Given the description of an element on the screen output the (x, y) to click on. 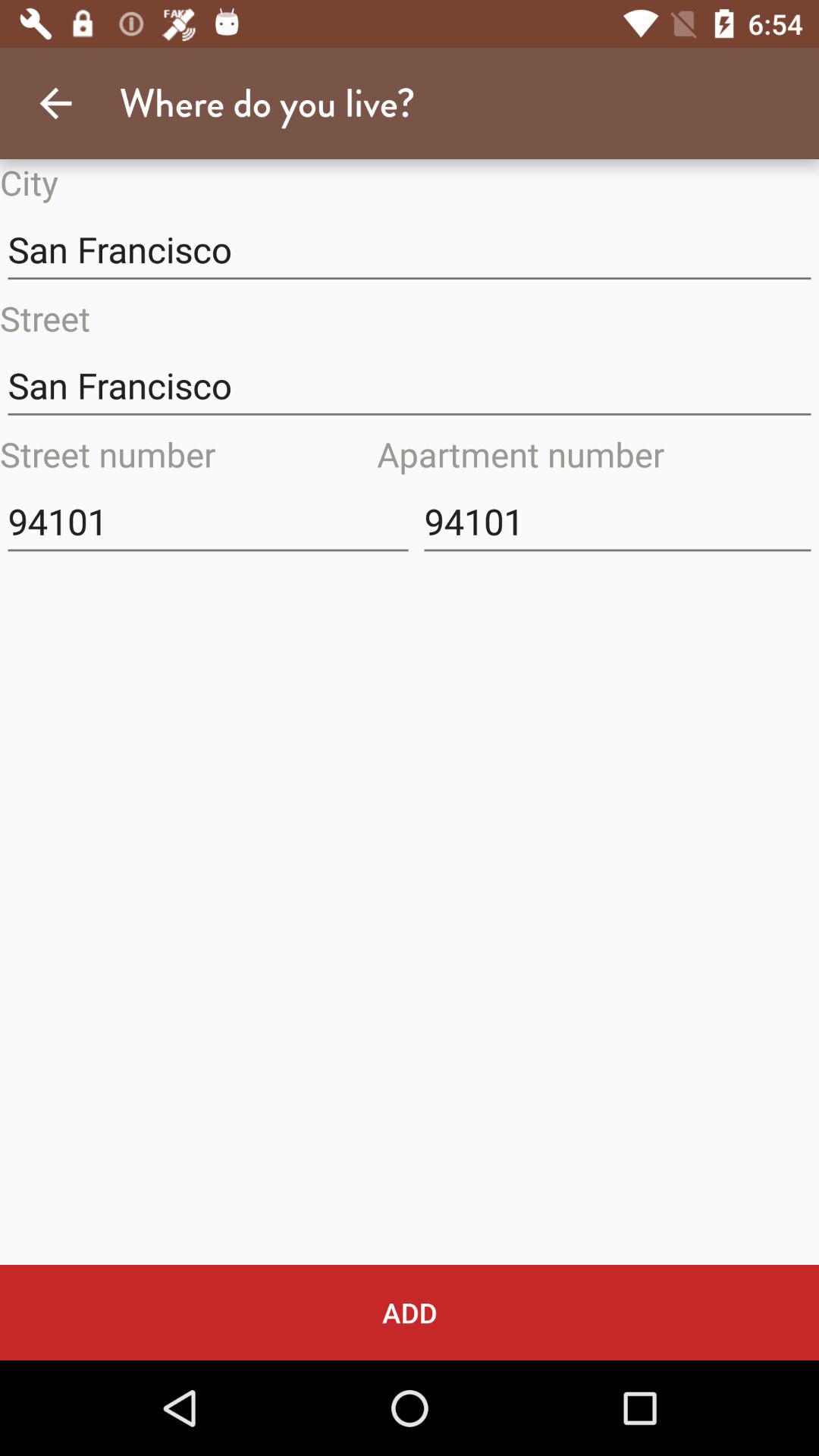
choose the icon below the 94101 (409, 1312)
